Given the description of an element on the screen output the (x, y) to click on. 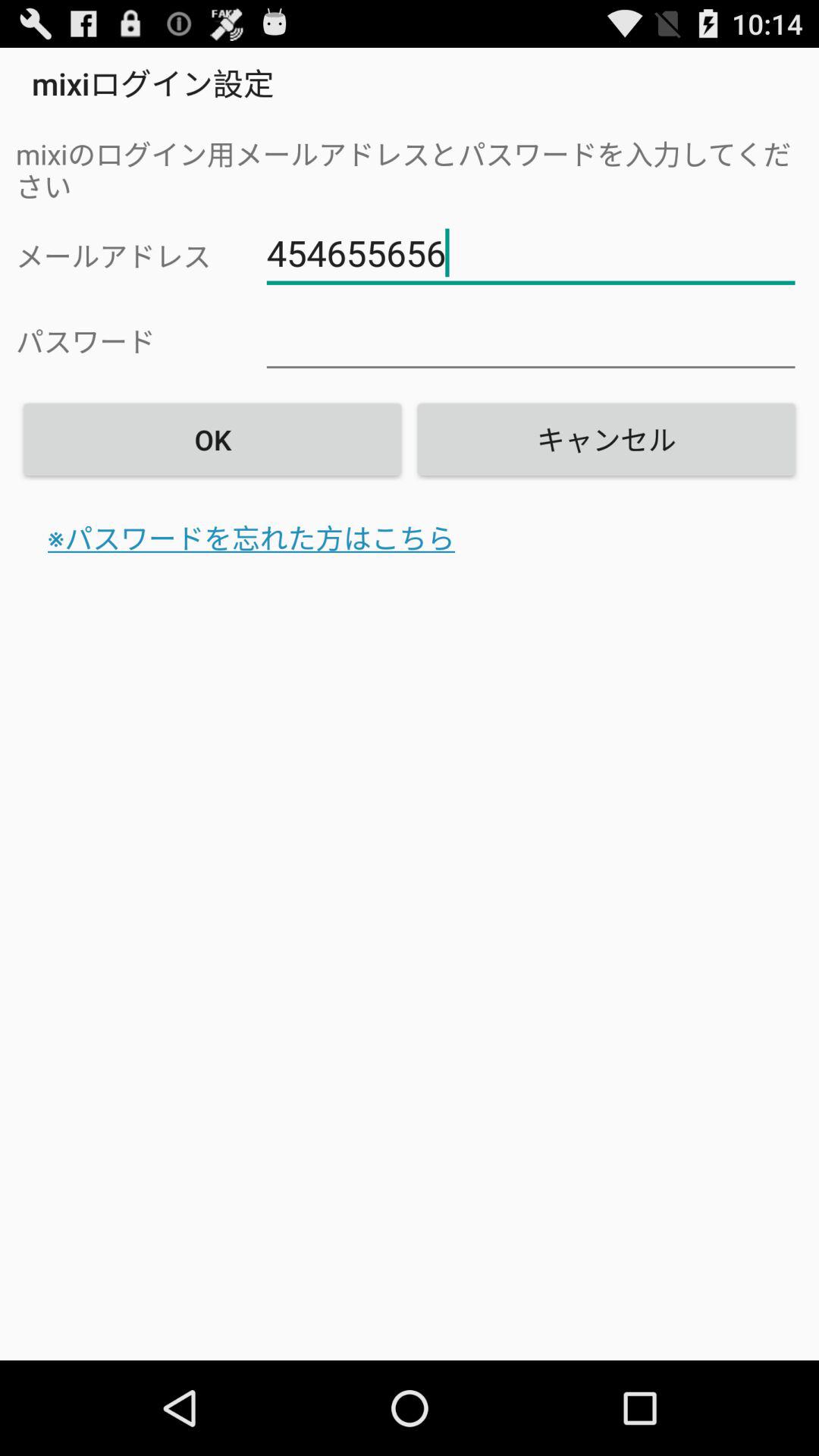
choose the item at the top right corner (606, 439)
